Given the description of an element on the screen output the (x, y) to click on. 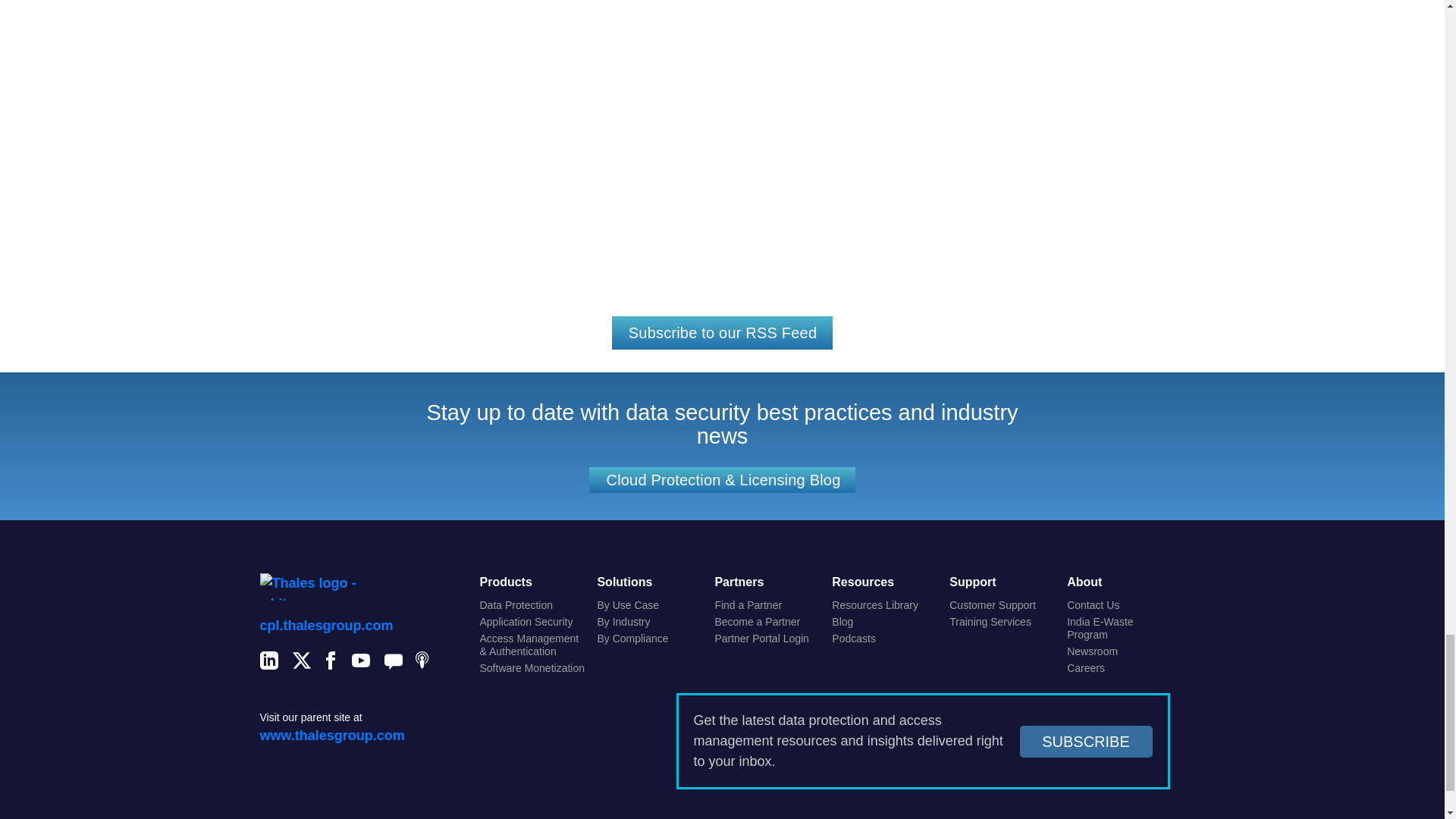
Podcasts (423, 663)
YouTube (360, 663)
Thales Blog (393, 663)
LinkedIn (268, 663)
Twitter (301, 663)
Facebook (330, 663)
